Given the description of an element on the screen output the (x, y) to click on. 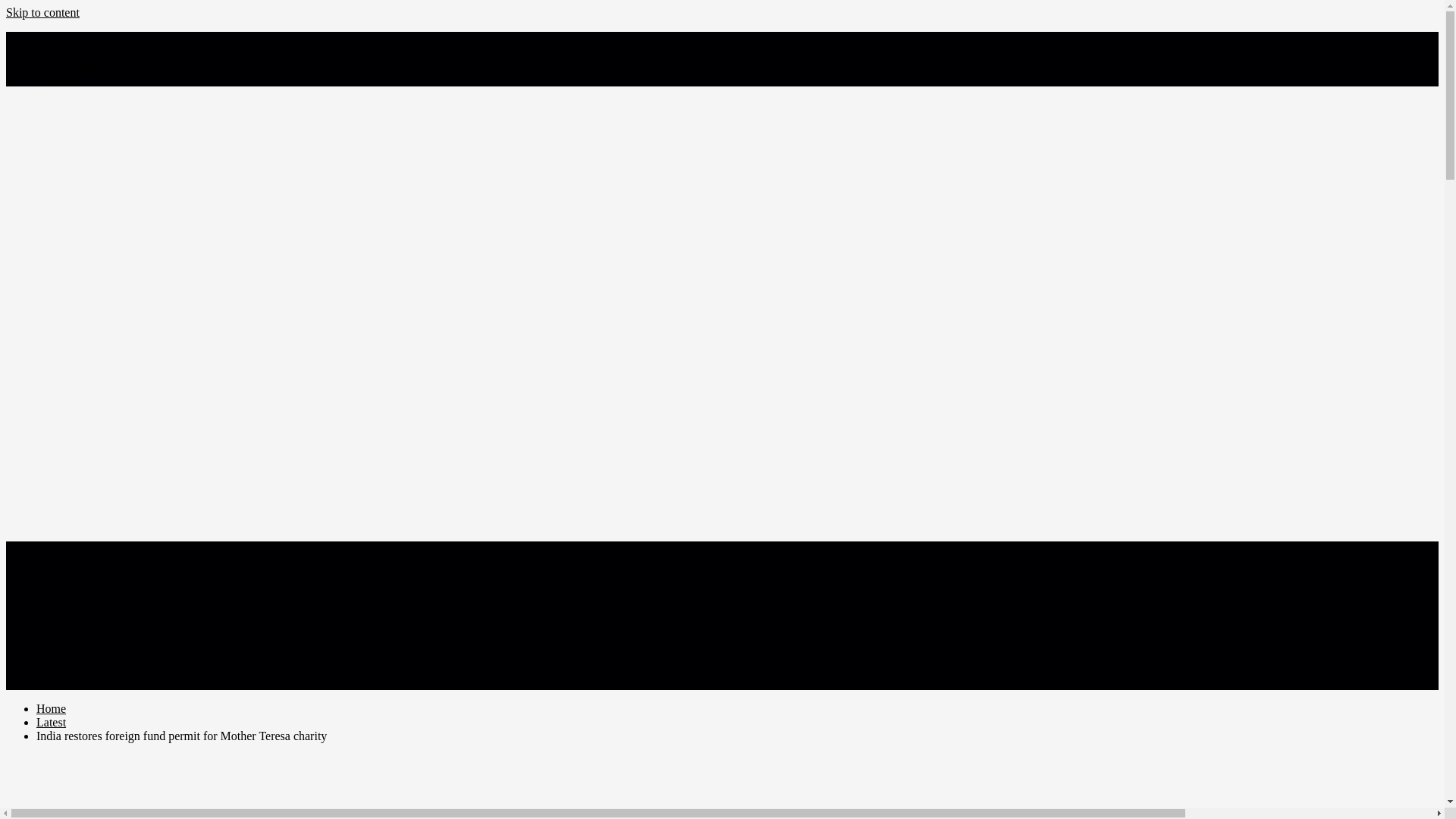
Technology (64, 600)
Entertainment (70, 668)
Sign Up (56, 78)
Menu (19, 547)
Privacy Policy (71, 65)
Contact Us (63, 38)
Travel (51, 655)
Health (52, 614)
Education (60, 573)
Latest (50, 721)
